Given the description of an element on the screen output the (x, y) to click on. 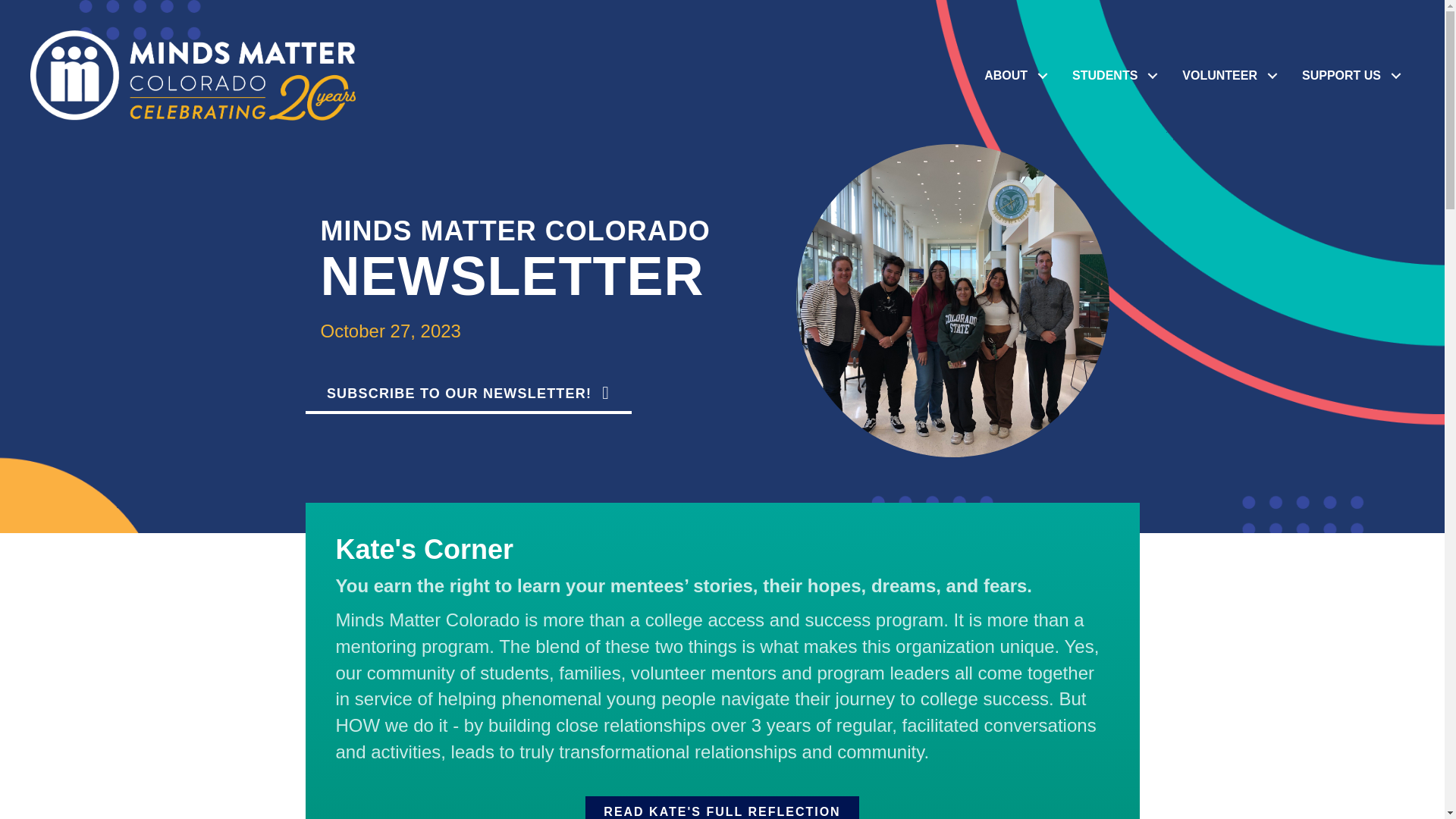
ABOUT (1016, 74)
READ KATE'S FULL REFLECTION (722, 807)
SUBSCRIBE TO OUR NEWSLETTER! (467, 394)
SUPPORT US (1351, 74)
VOLUNTEER (1230, 74)
STUDENTS (1115, 74)
